Given the description of an element on the screen output the (x, y) to click on. 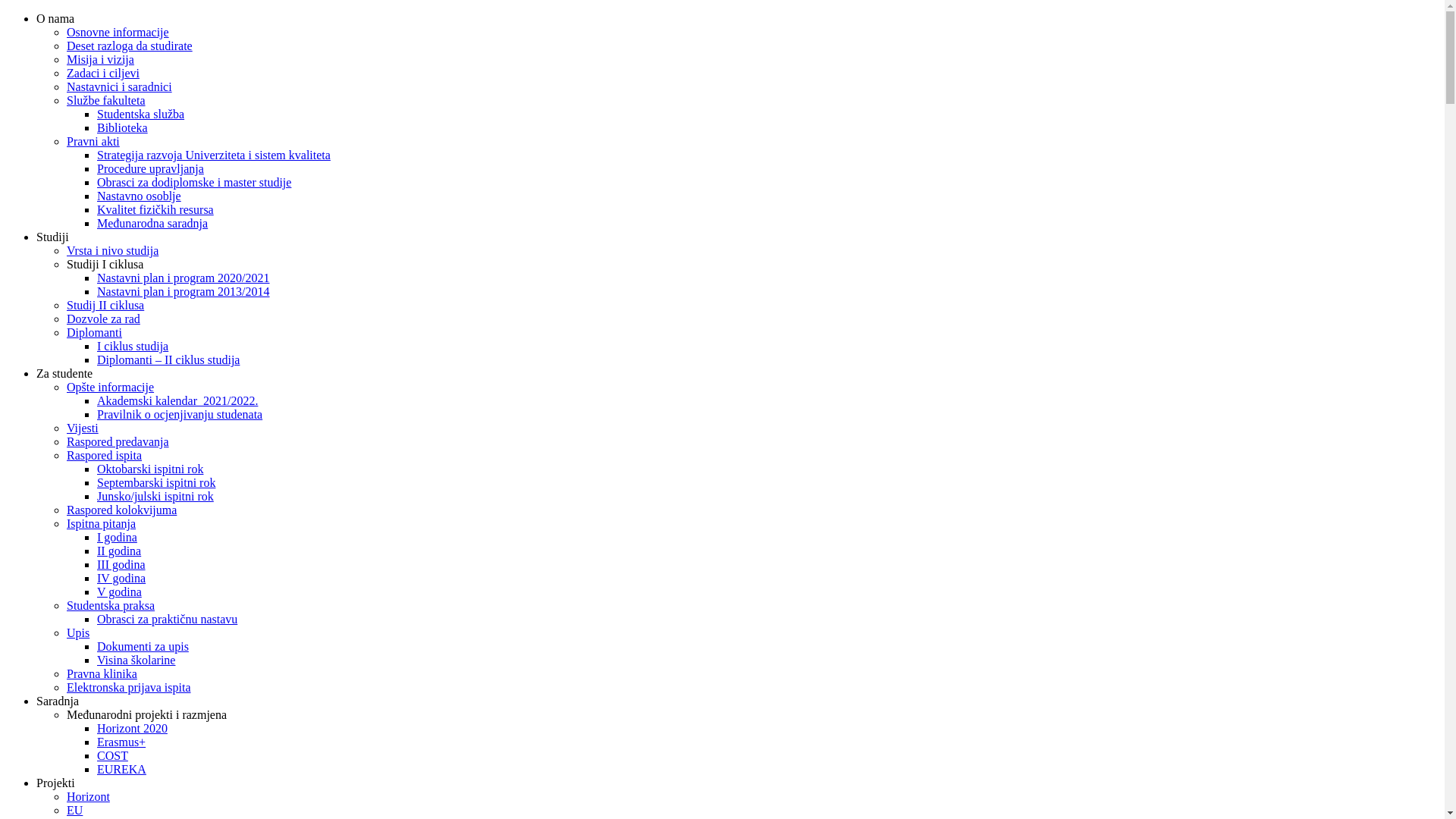
Nastavno osoblje Element type: text (139, 195)
COST Element type: text (112, 755)
Junsko/julski ispitni rok Element type: text (155, 495)
Studij II ciklusa Element type: text (105, 304)
Raspored kolokvijuma Element type: text (121, 509)
Akademski kalendar  2021/2022. Element type: text (177, 400)
Dozvole za rad Element type: text (103, 318)
Ispitna pitanja Element type: text (100, 523)
Nastavni plan i program 2020/2021 Element type: text (183, 277)
Horizont Element type: text (87, 796)
Zadaci i ciljevi Element type: text (102, 72)
Dokumenti za upis Element type: text (142, 646)
Vijesti Element type: text (82, 427)
Strategija razvoja Univerziteta i sistem kvaliteta Element type: text (213, 154)
I ciklus studija Element type: text (132, 345)
III godina Element type: text (121, 564)
I godina Element type: text (117, 536)
Erasmus+ Element type: text (121, 741)
Obrasci za dodiplomske i master studije Element type: text (194, 181)
V godina Element type: text (119, 591)
II godina Element type: text (119, 550)
Oktobarski ispitni rok Element type: text (150, 468)
Upis Element type: text (77, 632)
Pravna klinika Element type: text (101, 673)
Studentska praksa Element type: text (110, 605)
Nastavnici i saradnici Element type: text (119, 86)
Procedure upravljanja Element type: text (150, 168)
Vrsta i nivo studija Element type: text (112, 250)
Biblioteka Element type: text (122, 127)
Diplomanti Element type: text (94, 332)
Pravni akti Element type: text (92, 140)
Deset razloga da studirate Element type: text (129, 45)
Elektronska prijava ispita Element type: text (128, 686)
Pravilnik o ocjenjivanju studenata Element type: text (179, 413)
Horizont 2020 Element type: text (132, 727)
Septembarski ispitni rok Element type: text (156, 482)
IV godina Element type: text (121, 577)
Raspored ispita Element type: text (103, 454)
Misija i vizija Element type: text (100, 59)
Raspored predavanja Element type: text (117, 441)
EU Element type: text (74, 809)
EUREKA Element type: text (121, 768)
Nastavni plan i program 2013/2014 Element type: text (183, 291)
Osnovne informacije Element type: text (117, 31)
